Given the description of an element on the screen output the (x, y) to click on. 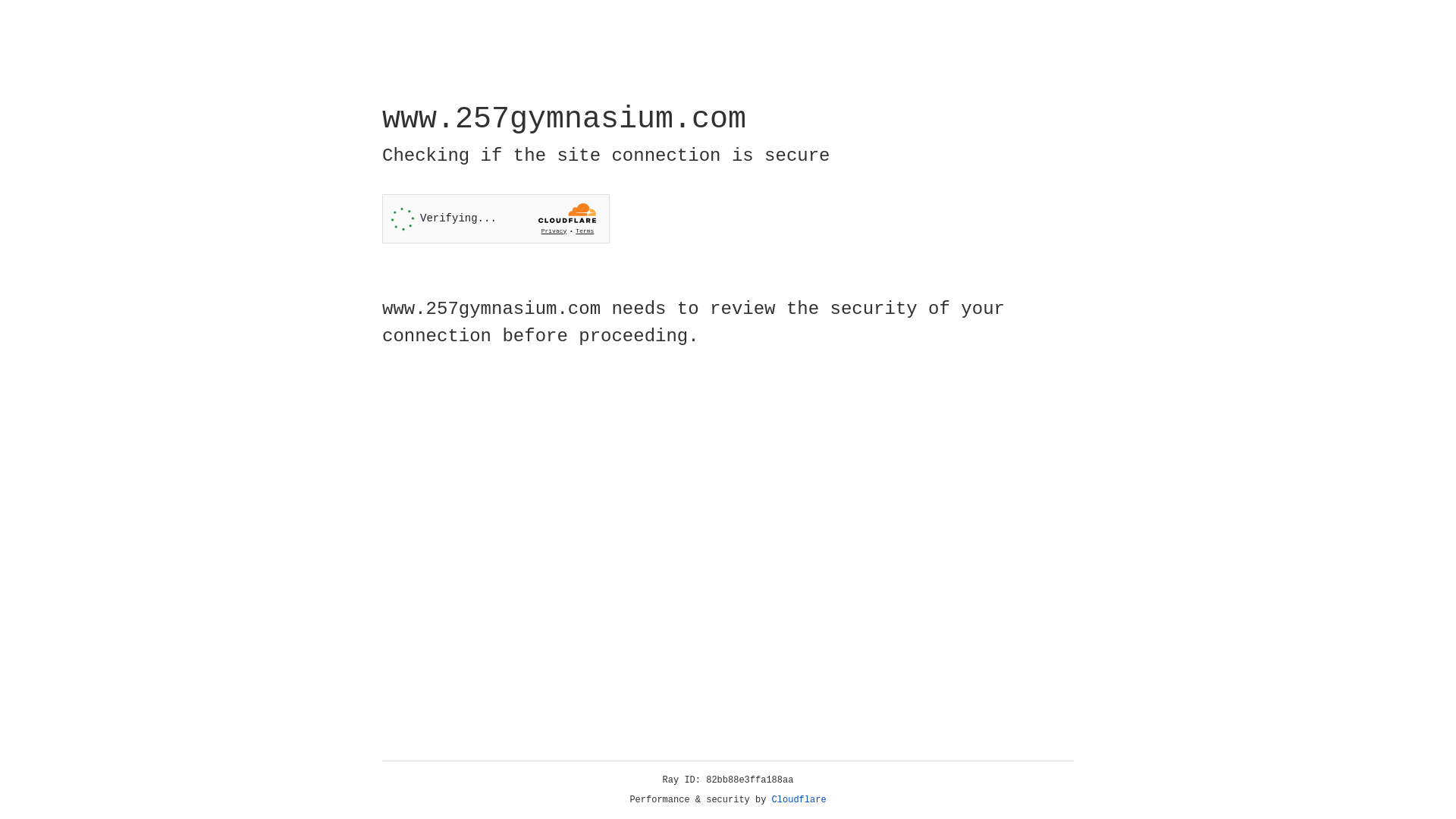
Widget containing a Cloudflare security challenge Element type: hover (495, 218)
Cloudflare Element type: text (798, 799)
